Given the description of an element on the screen output the (x, y) to click on. 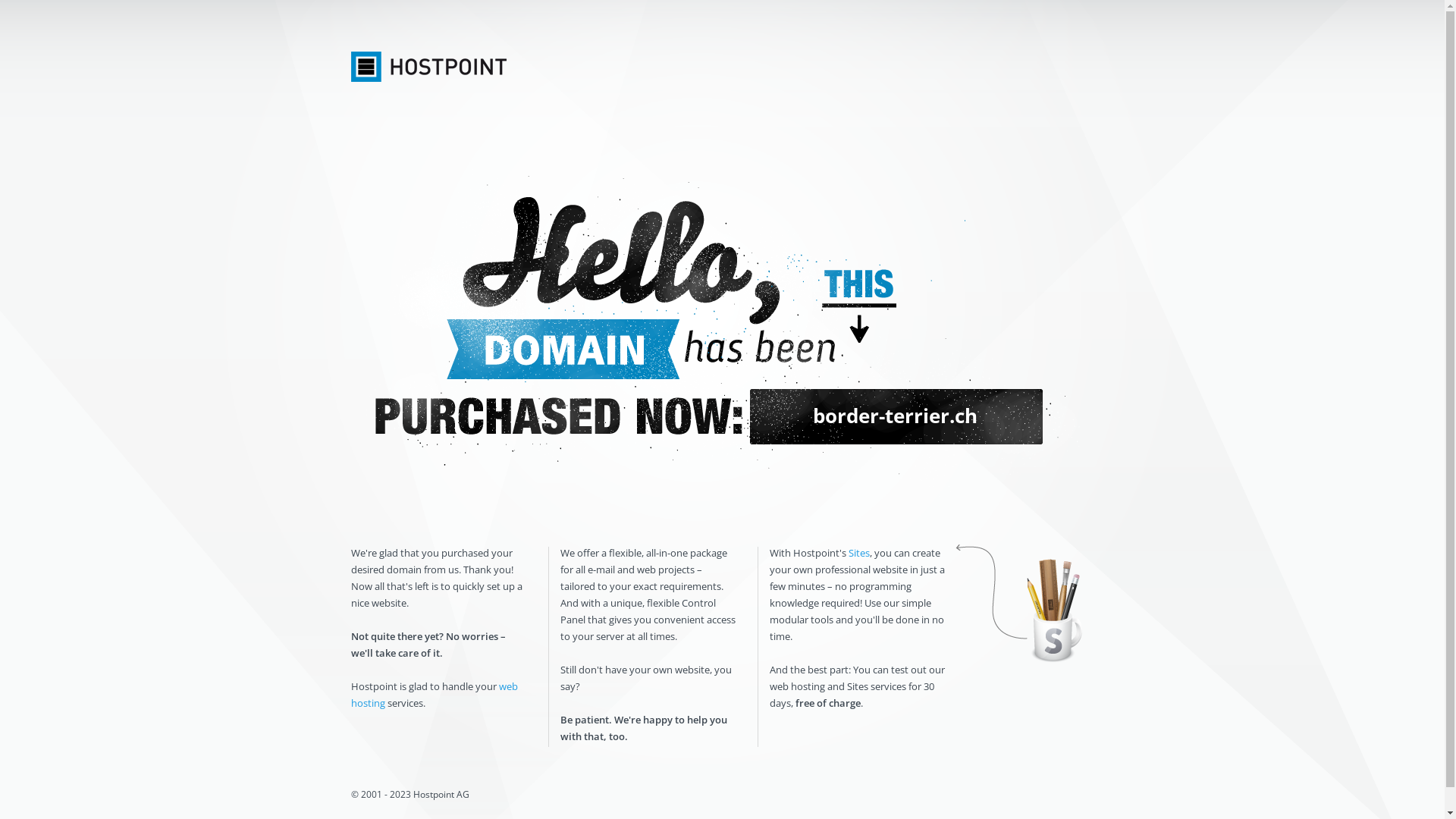
web hosting Element type: text (433, 694)
Sites Element type: text (858, 552)
